Given the description of an element on the screen output the (x, y) to click on. 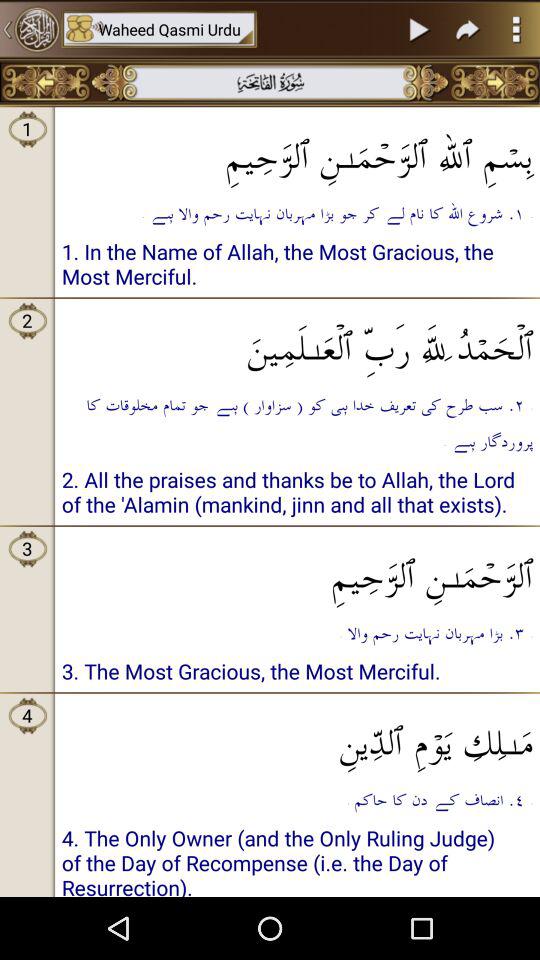
turn on icon to the left of waheed qasmi urdu item (30, 29)
